Given the description of an element on the screen output the (x, y) to click on. 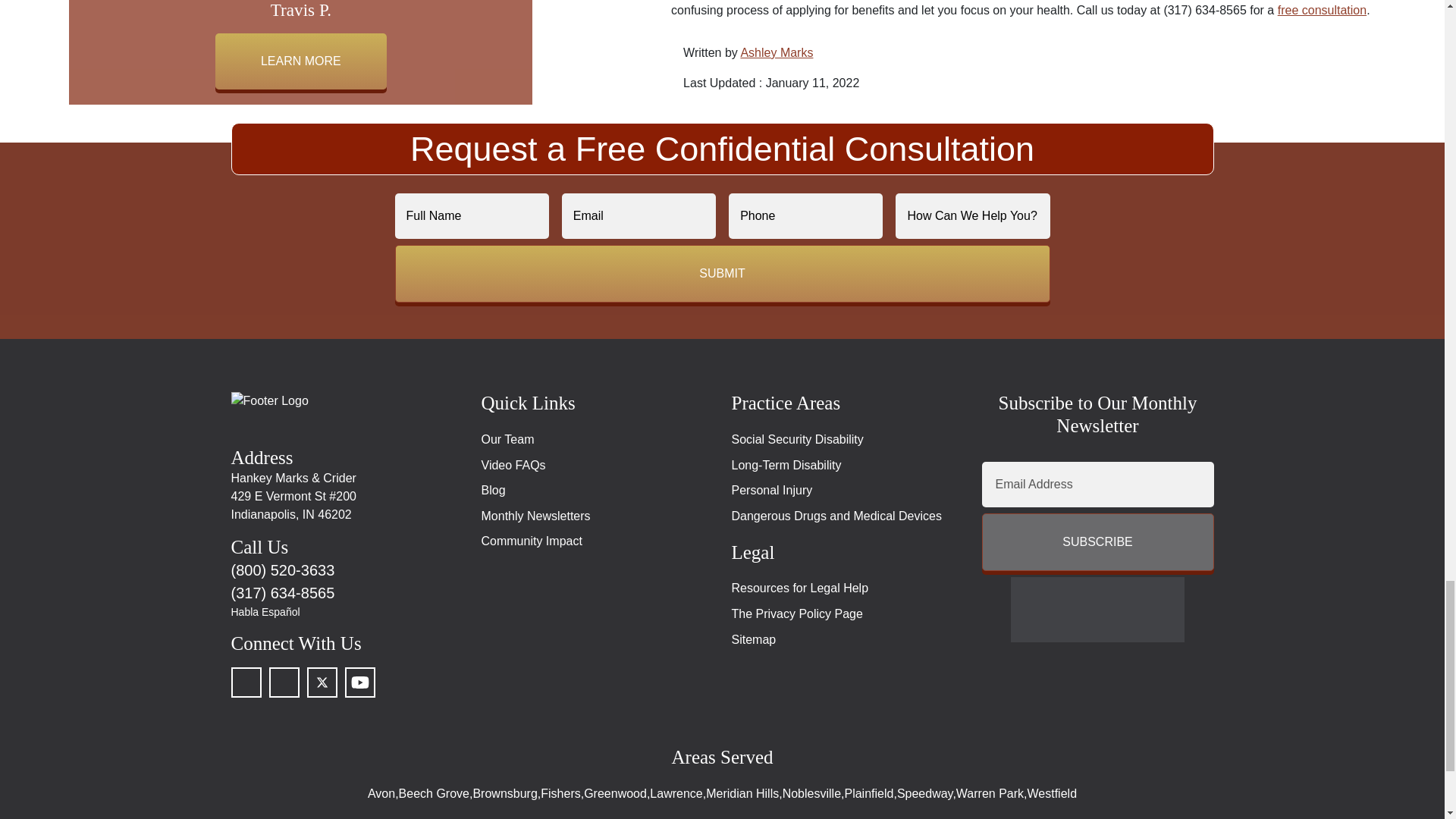
Spanish (346, 611)
Submit (721, 273)
Subscribe (1096, 541)
